Given the description of an element on the screen output the (x, y) to click on. 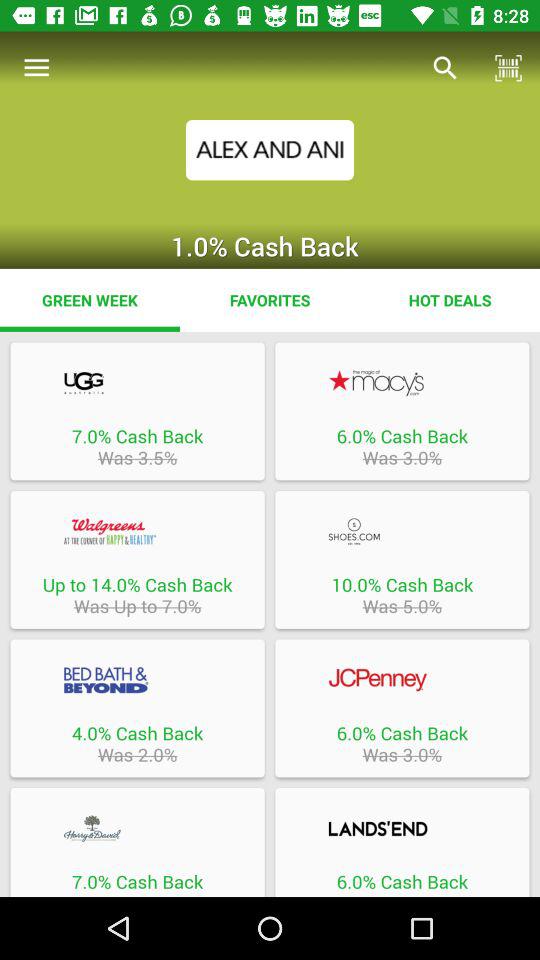
open deal for ugg (137, 382)
